Given the description of an element on the screen output the (x, y) to click on. 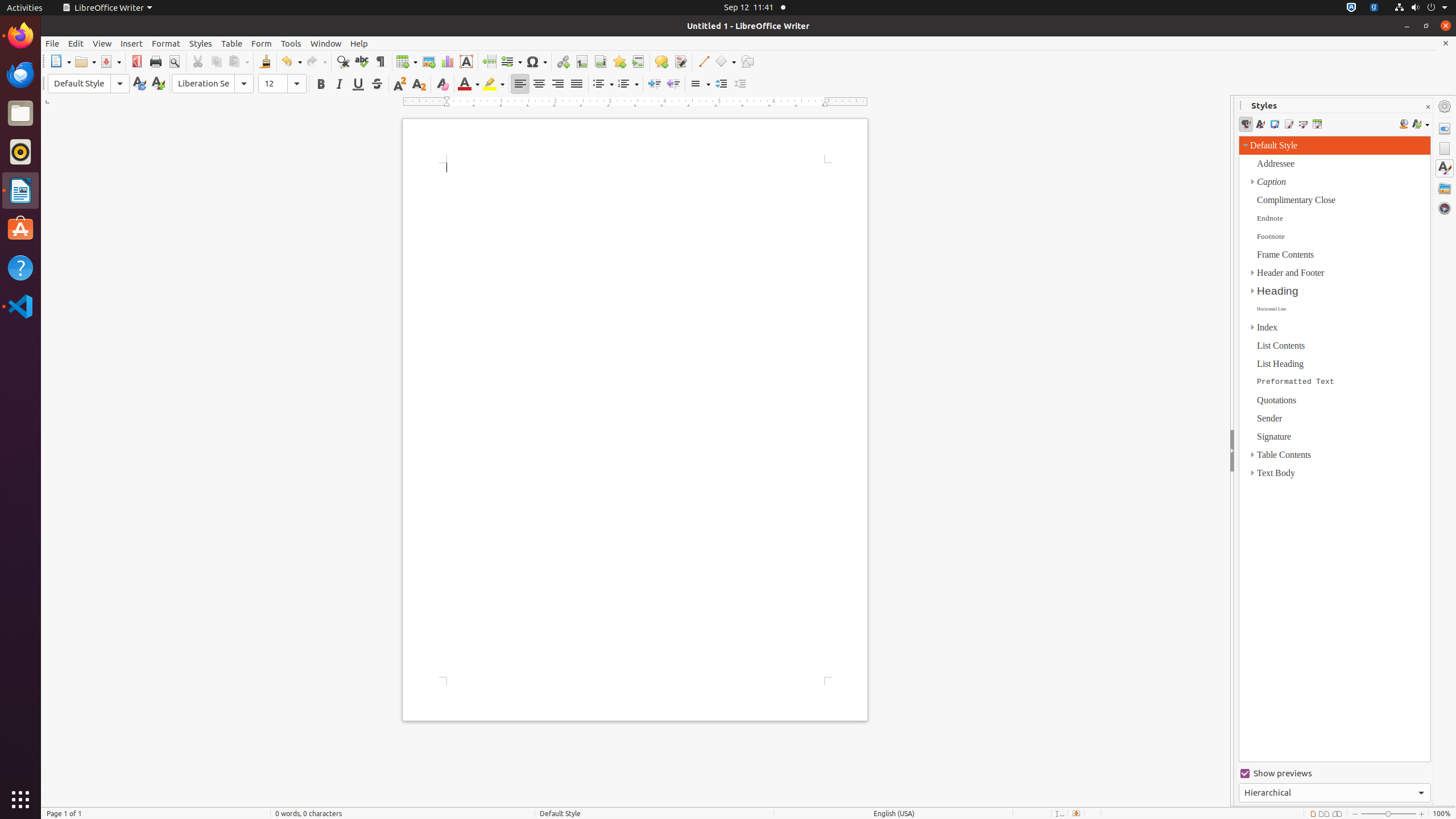
Bookmark Element type: push-button (618, 61)
Paragraph Styles Element type: push-button (1245, 123)
Page Break Element type: push-button (489, 61)
Superscript Element type: toggle-button (399, 83)
Trash Element type: label (75, 108)
